Given the description of an element on the screen output the (x, y) to click on. 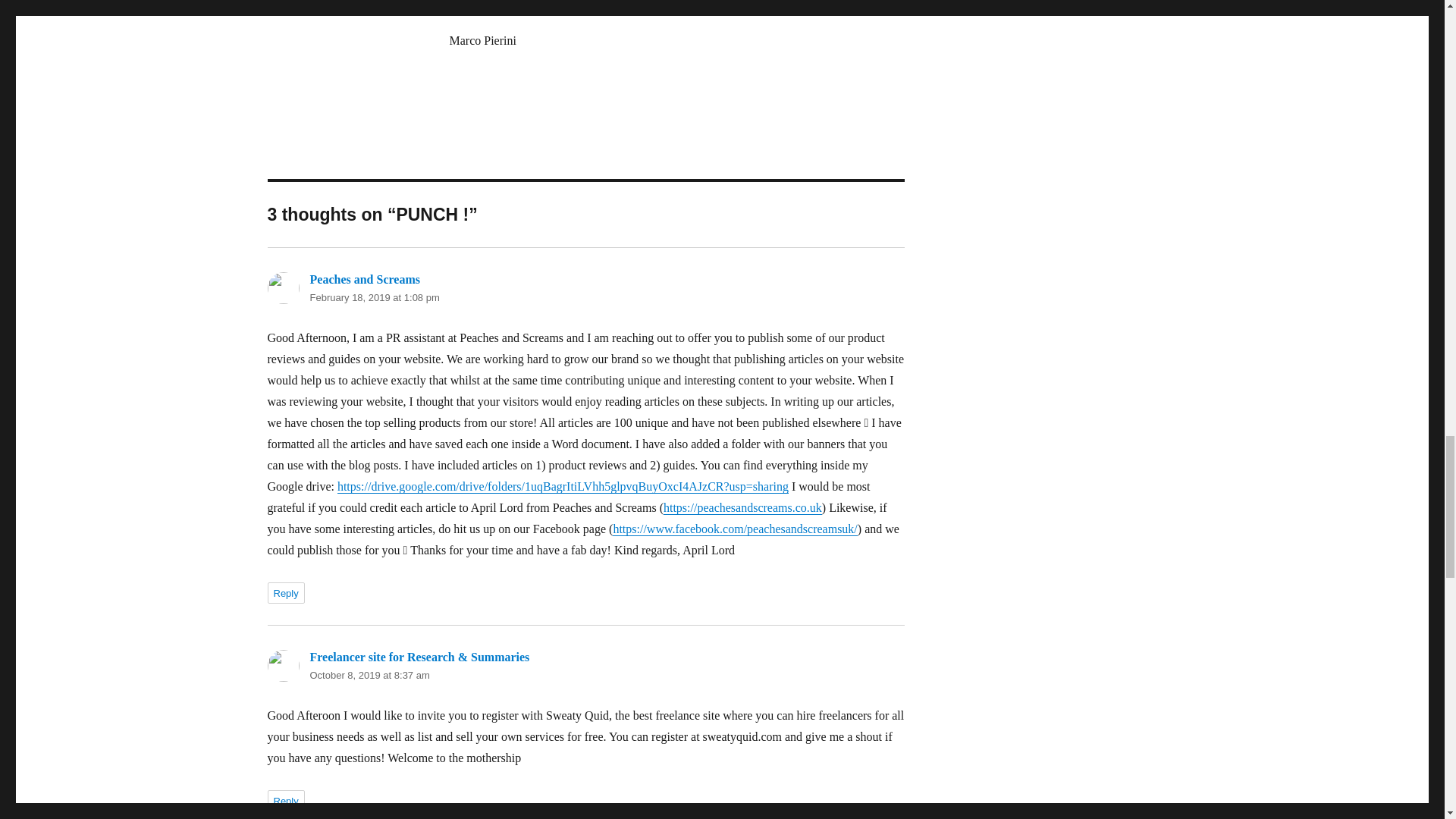
Peaches and Screams (363, 278)
October 8, 2019 at 8:37 am (368, 674)
Reply (285, 592)
February 18, 2019 at 1:08 pm (373, 297)
Reply (285, 800)
